Given the description of an element on the screen output the (x, y) to click on. 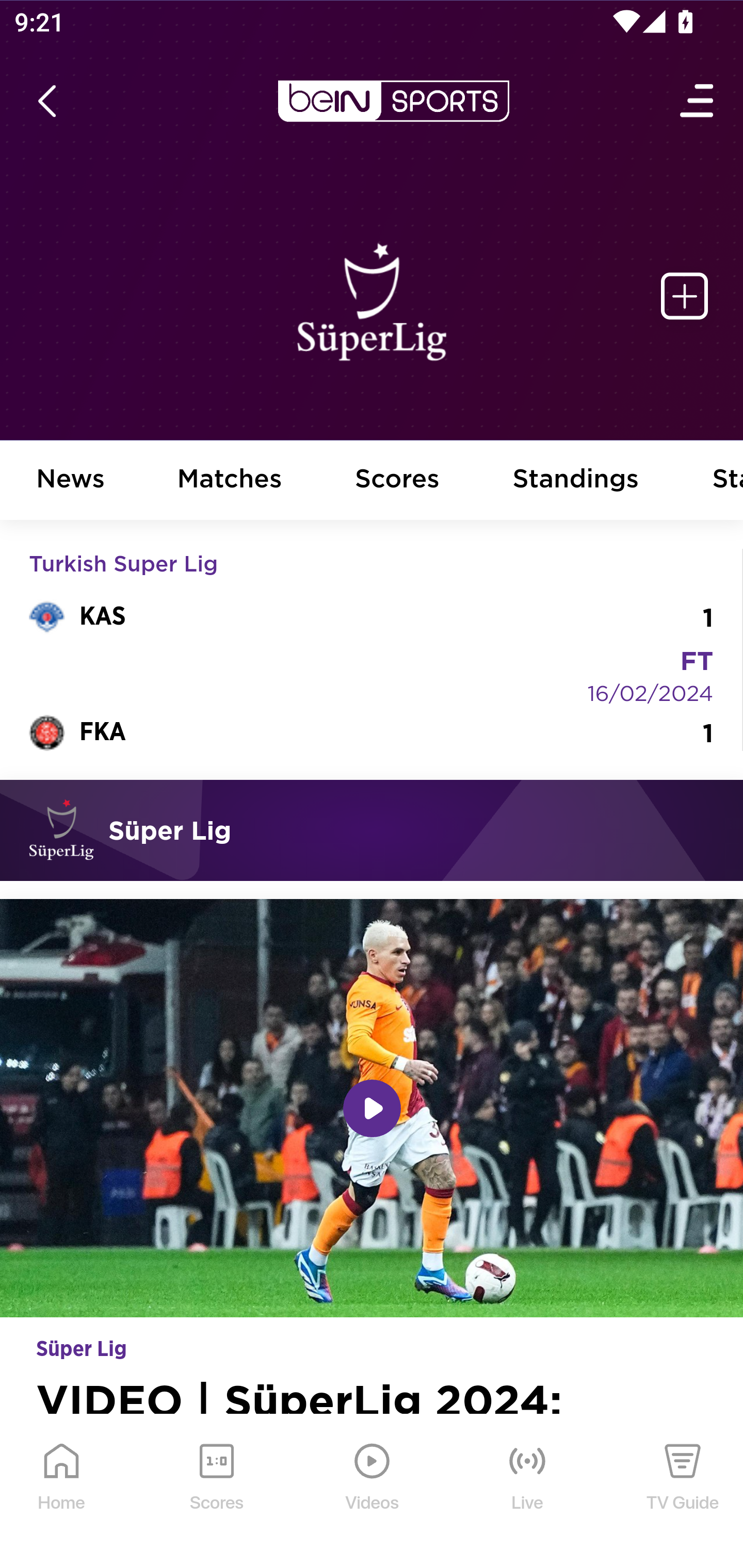
en-us?platform=mobile_android bein logo white (392, 101)
icon back (46, 101)
Open Menu Icon (697, 101)
News (70, 480)
Matches (229, 480)
Scores (397, 480)
Standings (575, 480)
Home Home Icon Home (61, 1491)
Scores Scores Icon Scores (216, 1491)
Videos Videos Icon Videos (372, 1491)
TV Guide TV Guide Icon TV Guide (682, 1491)
